Given the description of an element on the screen output the (x, y) to click on. 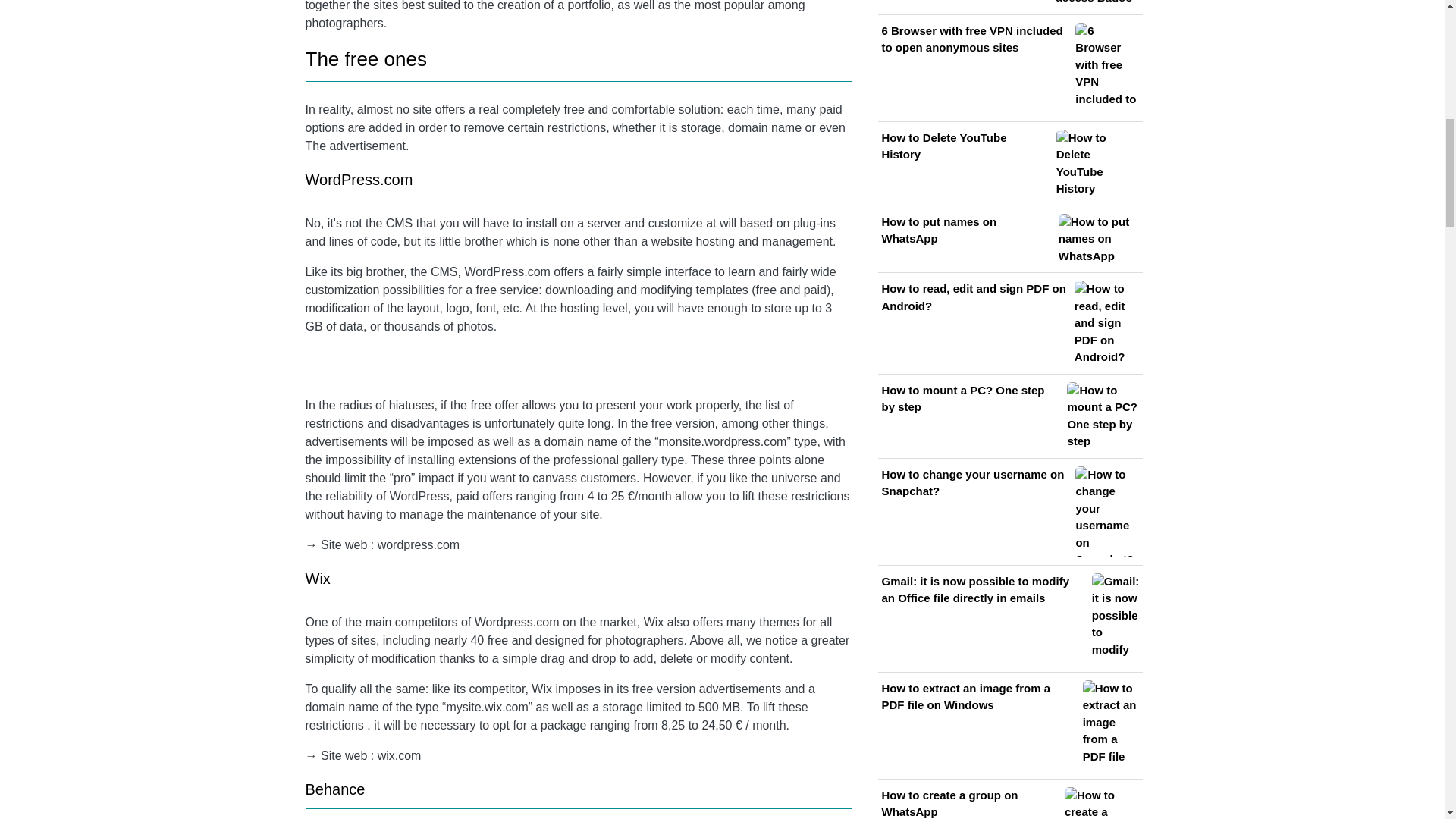
Wix (653, 621)
6 Browser with free VPN included to open anonymous sites (1009, 67)
How to access Badoo (1009, 3)
Wix (541, 688)
WordPress.com (507, 271)
How to read, edit and sign PDF on Android? (1009, 323)
WordPress.com (358, 179)
How to Delete YouTube History (1009, 163)
How to extract an image from a PDF file on Windows (1009, 725)
Behance (334, 789)
How to change your username on Snapchat? (1009, 511)
How to put names on WhatsApp (1009, 239)
Wix (317, 578)
How to create a group on WhatsApp (1009, 803)
The free ones (365, 58)
